Given the description of an element on the screen output the (x, y) to click on. 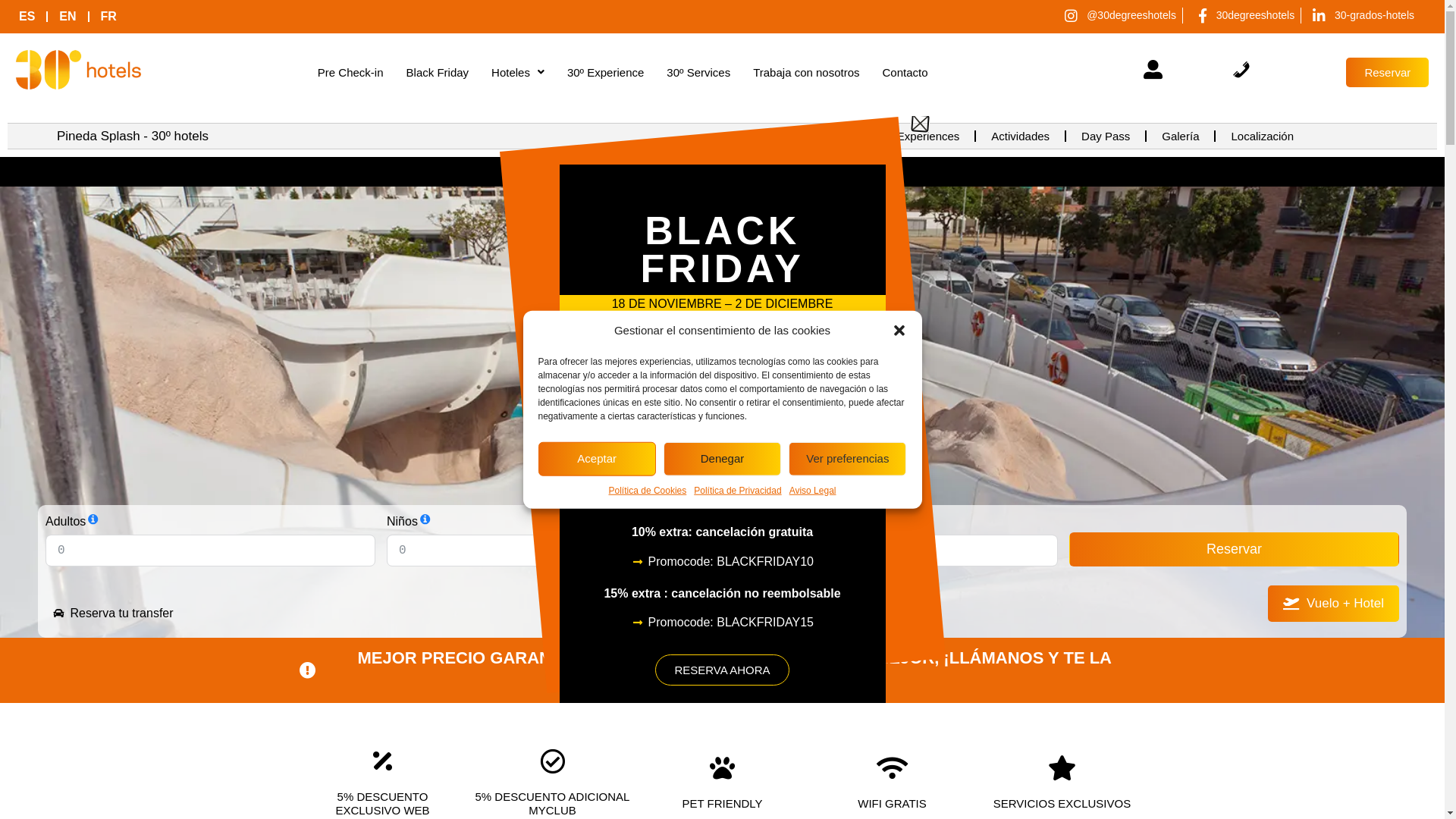
RESERVA AHORA Element type: text (721, 669)
Contacto Element type: text (905, 72)
Habitaciones Element type: text (794, 135)
ES Element type: text (26, 16)
Actividades Element type: text (1019, 135)
30-grados-hotels Element type: text (1360, 15)
Reserva tu transfer Element type: text (384, 613)
Aviso Legal Element type: text (812, 489)
FR Element type: text (108, 16)
Vuelo + Hotel Element type: text (1333, 603)
Hoteles Element type: text (517, 72)
@30degreeshotels Element type: text (1117, 15)
Reservar Element type: text (1234, 549)
30degreeshotels Element type: text (1241, 15)
Ver preferencias Element type: text (847, 458)
Splash Experiences Element type: text (909, 135)
BLACK FRIDAY. Hasta un 25% de descuento. Element type: text (721, 171)
Denegar Element type: text (722, 458)
Pre Check-in Element type: text (350, 72)
Trabaja con nosotros Element type: text (805, 72)
Black Friday Element type: text (437, 72)
Reservar Element type: text (1387, 72)
Day Pass Element type: text (1105, 135)
Aceptar Element type: text (596, 458)
EN Element type: text (67, 16)
